Given the description of an element on the screen output the (x, y) to click on. 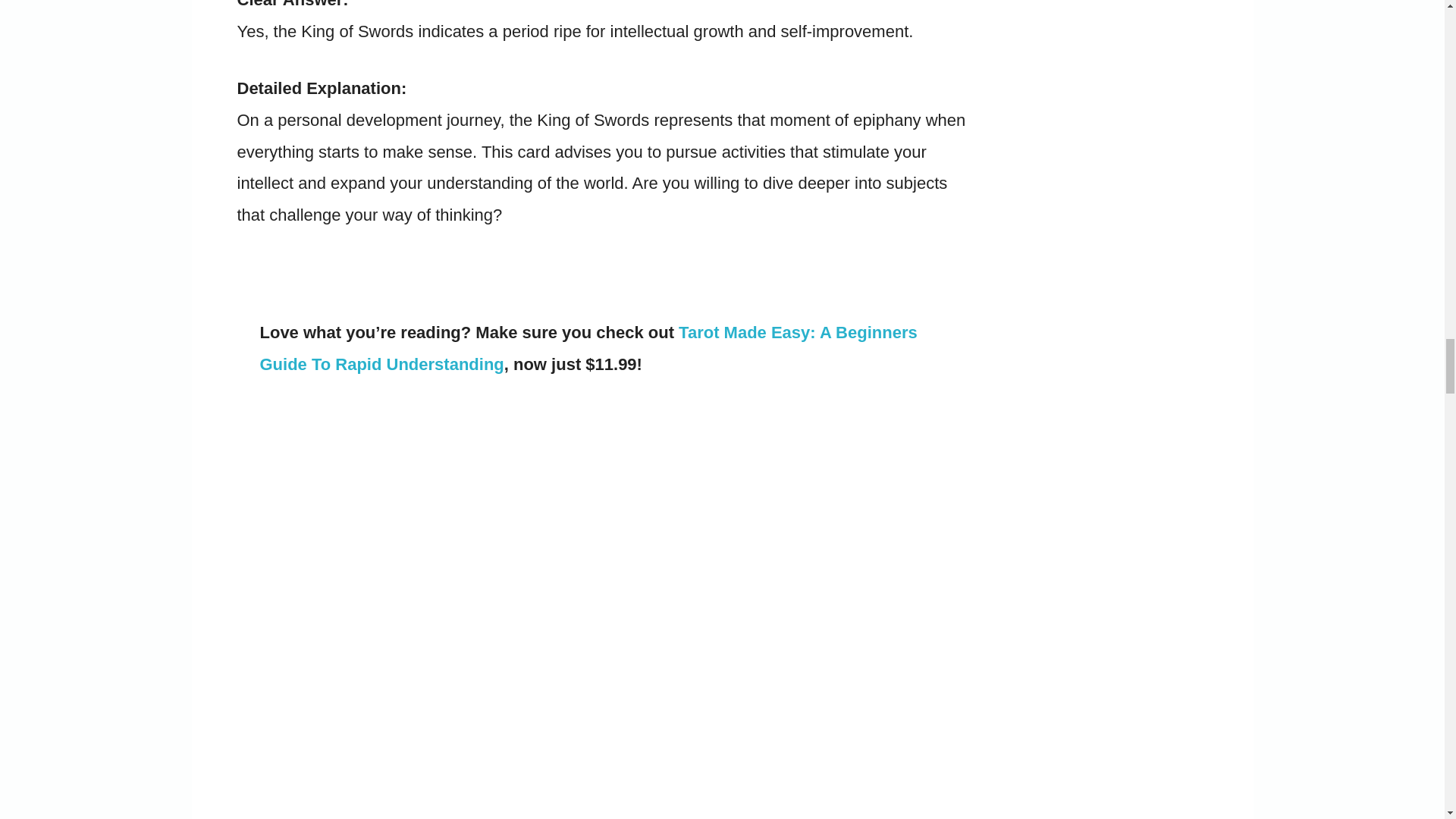
Tarot Made Easy: A Beginners Guide To Rapid Understanding (588, 347)
